Given the description of an element on the screen output the (x, y) to click on. 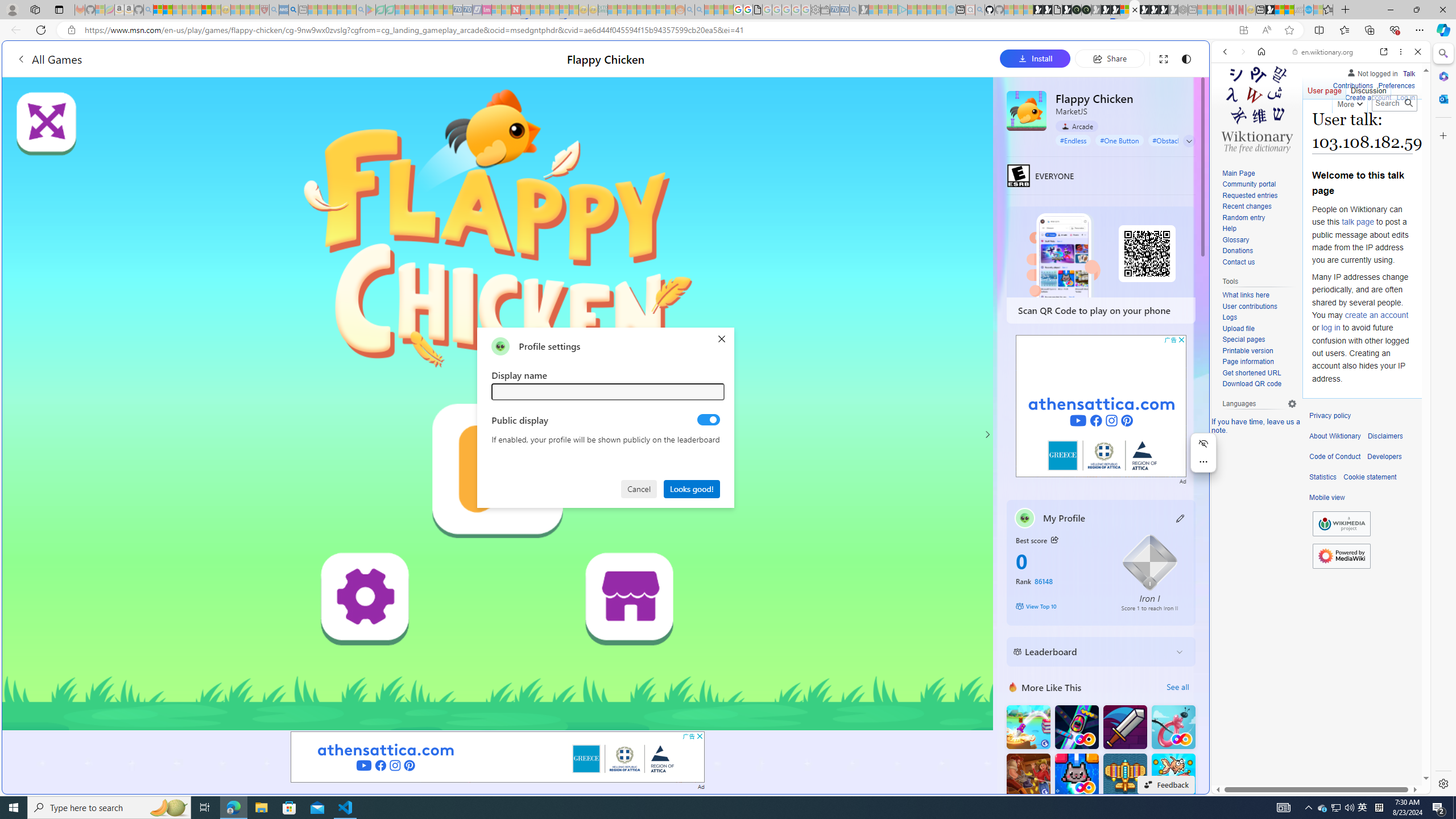
Class: b_serphb (1404, 130)
Main Page (1259, 173)
Class: control (1188, 140)
If you have time, leave us a note. (1255, 425)
Log in (1405, 96)
Page information (1247, 361)
Kitten Force FRVR (1076, 775)
utah sues federal government - Search (922, 389)
Dungeon Master Knight (1124, 726)
